Given the description of an element on the screen output the (x, y) to click on. 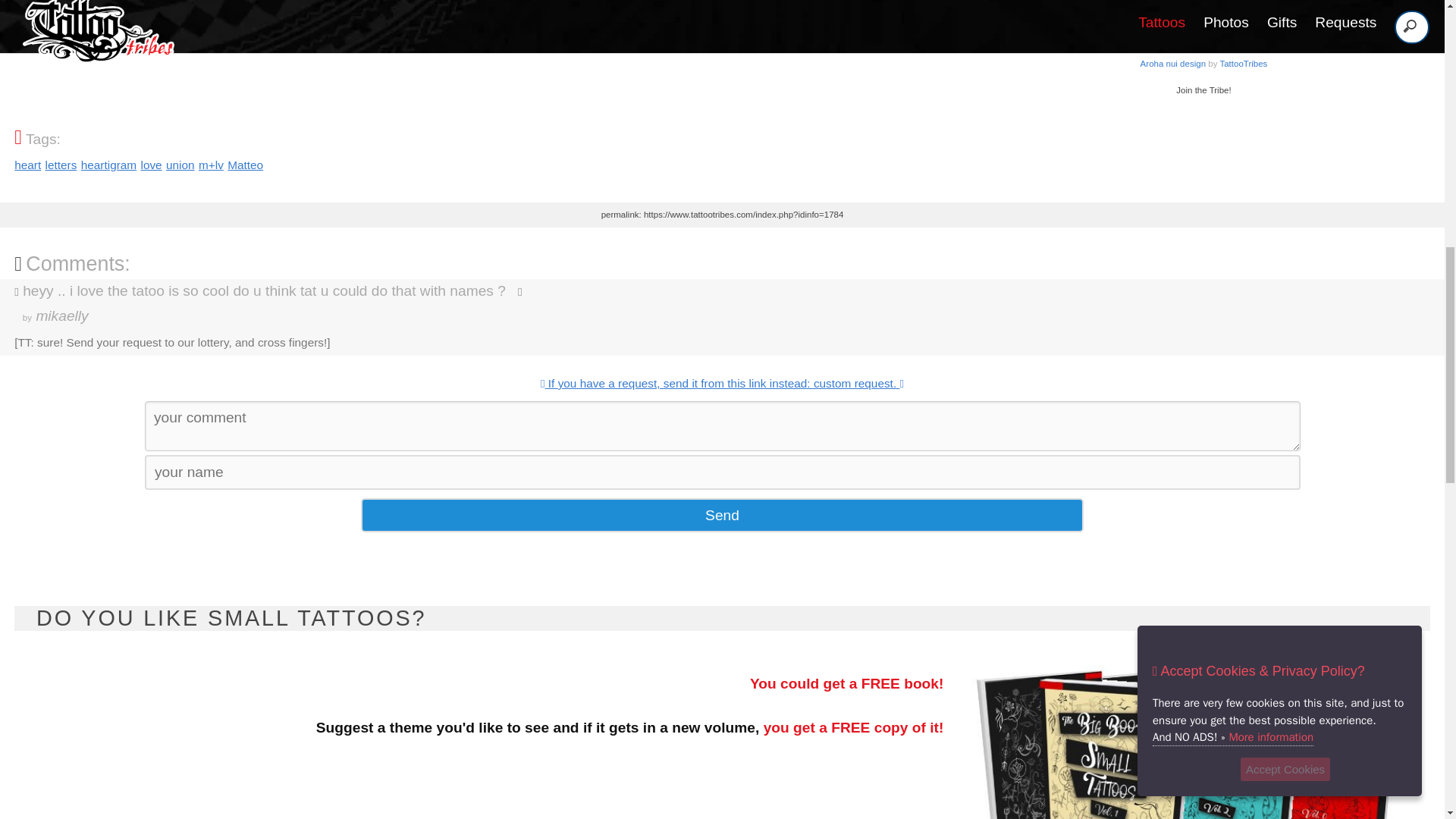
letters (61, 164)
Matteo (245, 164)
union (180, 164)
heartigram (108, 164)
Much Love t-shirt (1202, 58)
love (1202, 58)
heart (150, 164)
Send (27, 164)
